Given the description of an element on the screen output the (x, y) to click on. 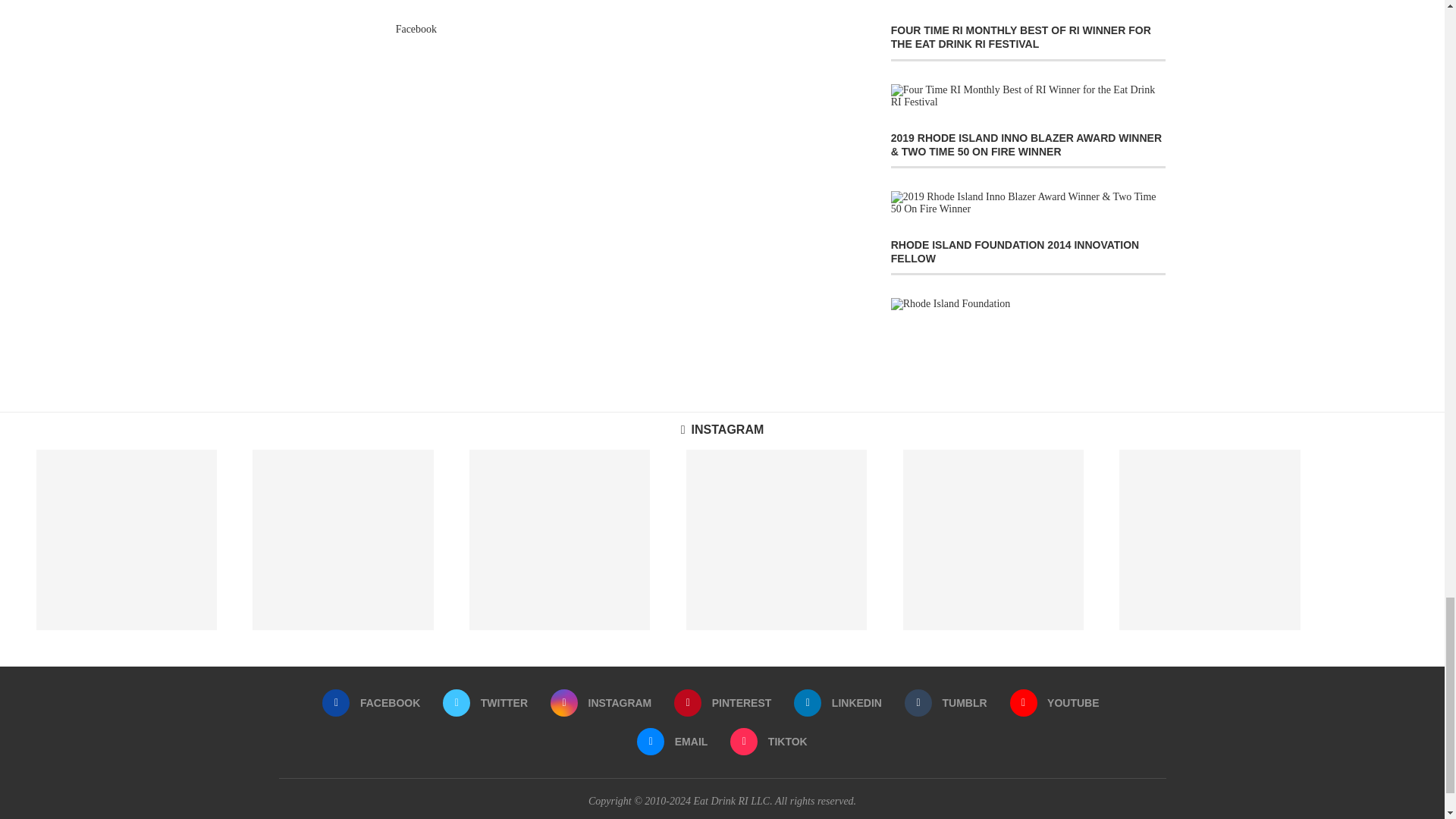
Swipe through for all the pics and the first photo... (126, 539)
Rhode Island Foundation 2014 Innovation Fellow (950, 304)
You asked for an unboxing, you got one! Thank you... (992, 539)
